Given the description of an element on the screen output the (x, y) to click on. 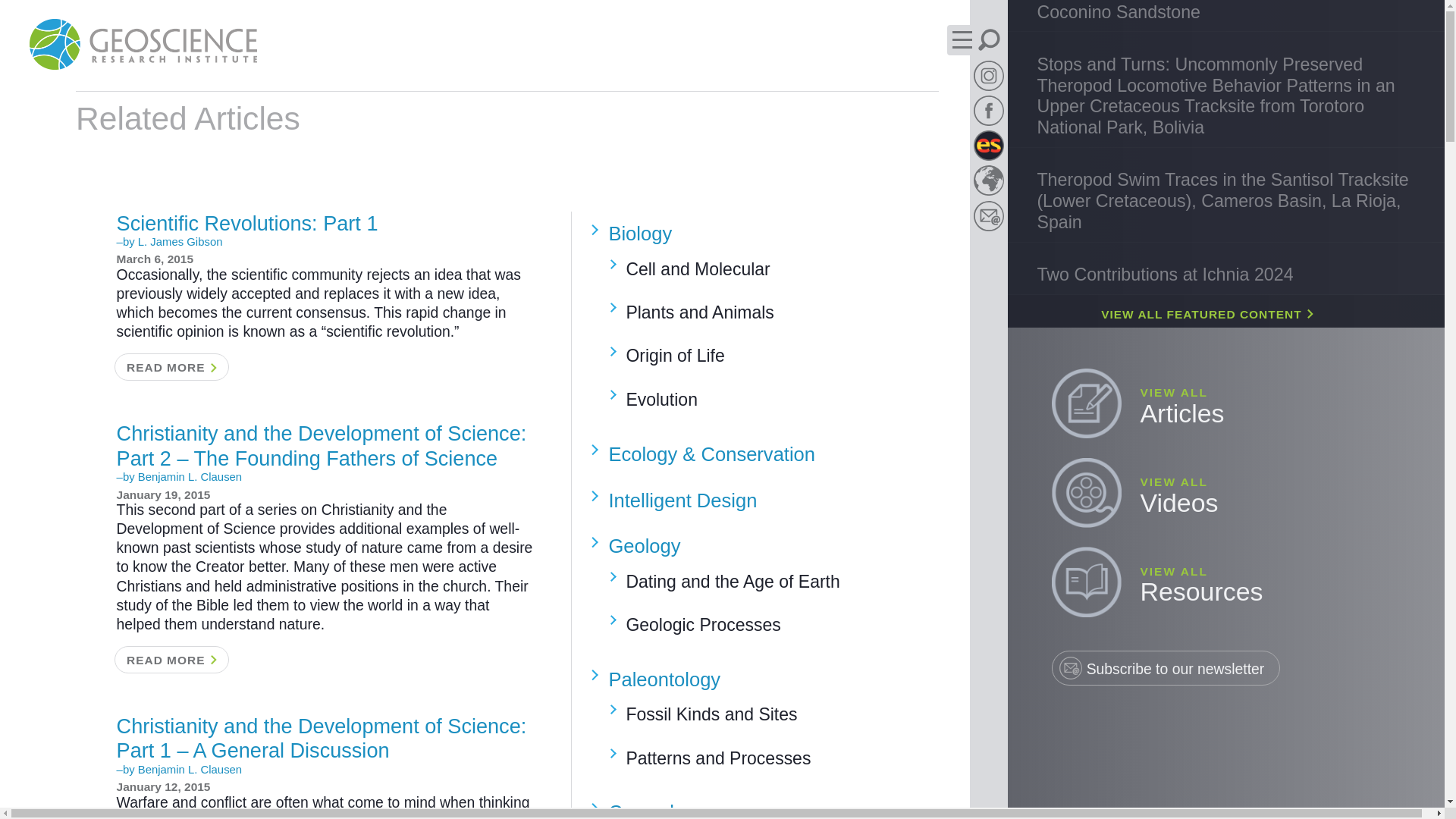
READ MORE (170, 366)
READ MORE (170, 659)
